Given the description of an element on the screen output the (x, y) to click on. 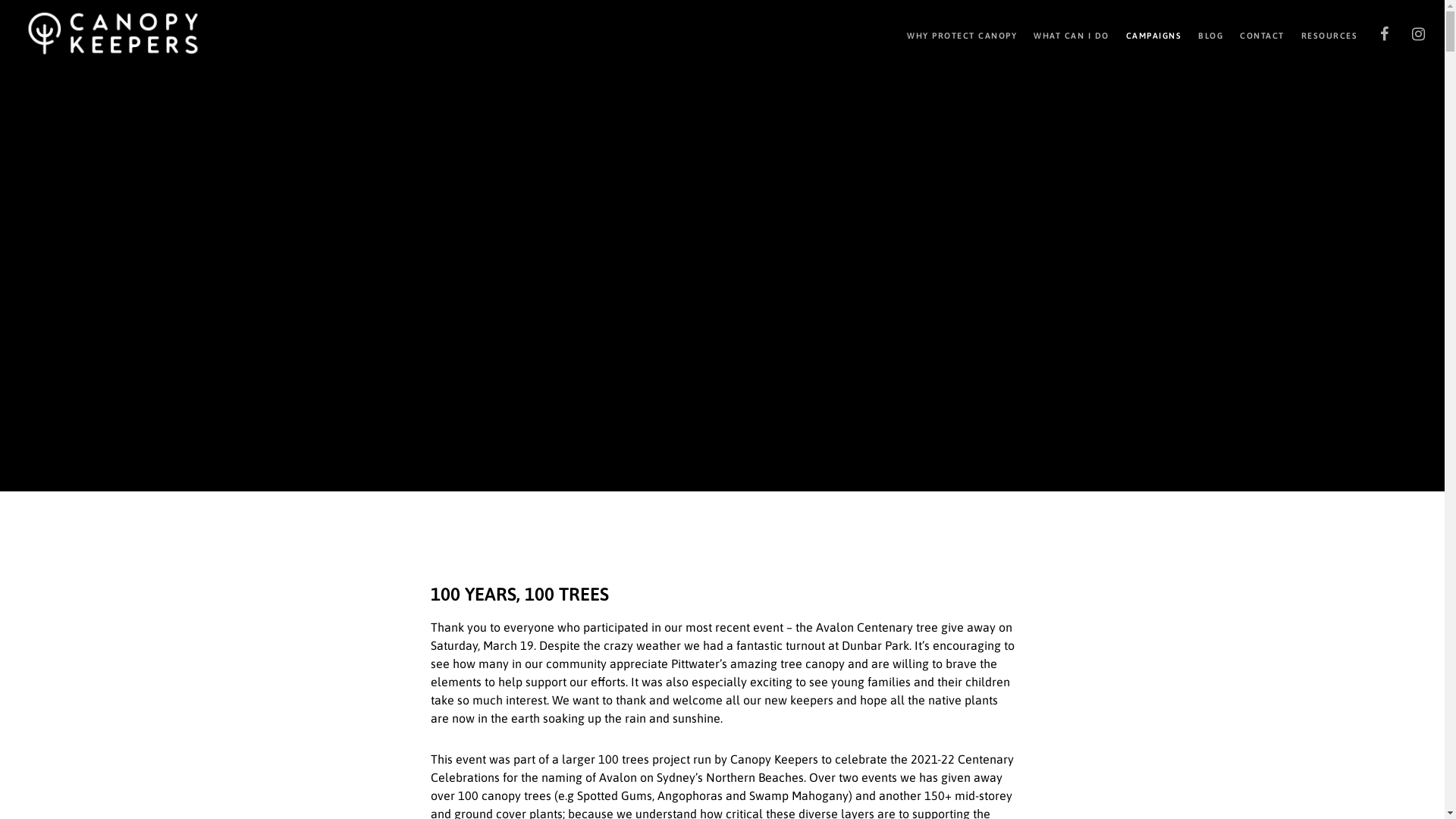
CAMPAIGNS Element type: text (1144, 34)
WHAT CAN I DO Element type: text (1062, 34)
RESOURCES Element type: text (1321, 34)
BLOG Element type: text (1202, 34)
CONTACT Element type: text (1253, 34)
WHY PROTECT CANOPY Element type: text (953, 34)
